Given the description of an element on the screen output the (x, y) to click on. 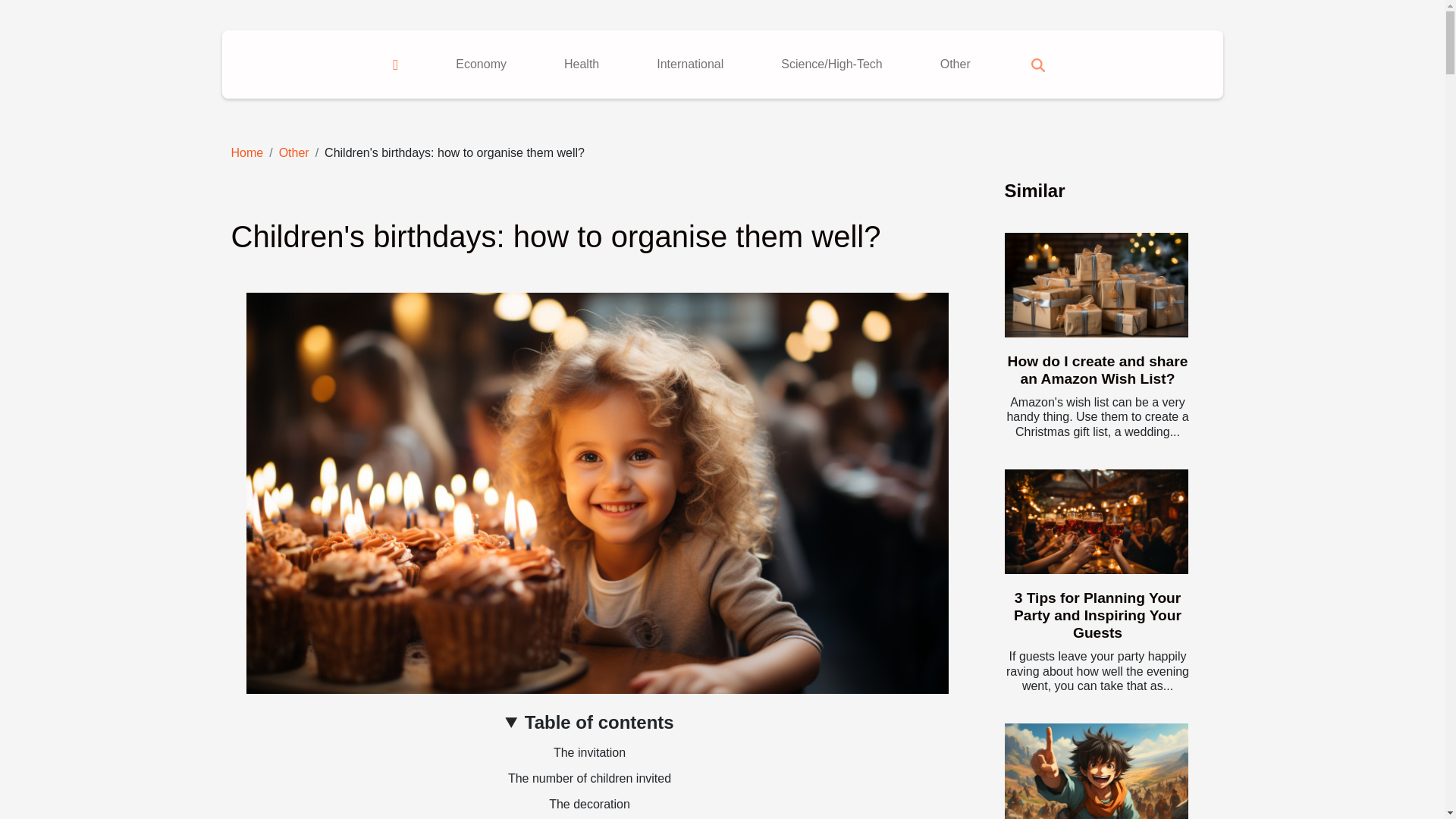
The decoration (589, 803)
How do I create and share an Amazon Wish List? (1096, 285)
How do I create and share an Amazon Wish List? (1097, 369)
Health (581, 64)
3 Tips for Planning Your Party and Inspiring Your Guests (1096, 521)
International (689, 64)
Why is it worthwhile to follow the Dragon Ball anime? (1096, 771)
Other (293, 152)
Other (293, 152)
Other (955, 64)
The invitation (589, 752)
The number of children invited (589, 778)
3 Tips for Planning Your Party and Inspiring Your Guests (1096, 614)
How do I create and share an Amazon Wish List? (1097, 369)
Economy (480, 64)
